Given the description of an element on the screen output the (x, y) to click on. 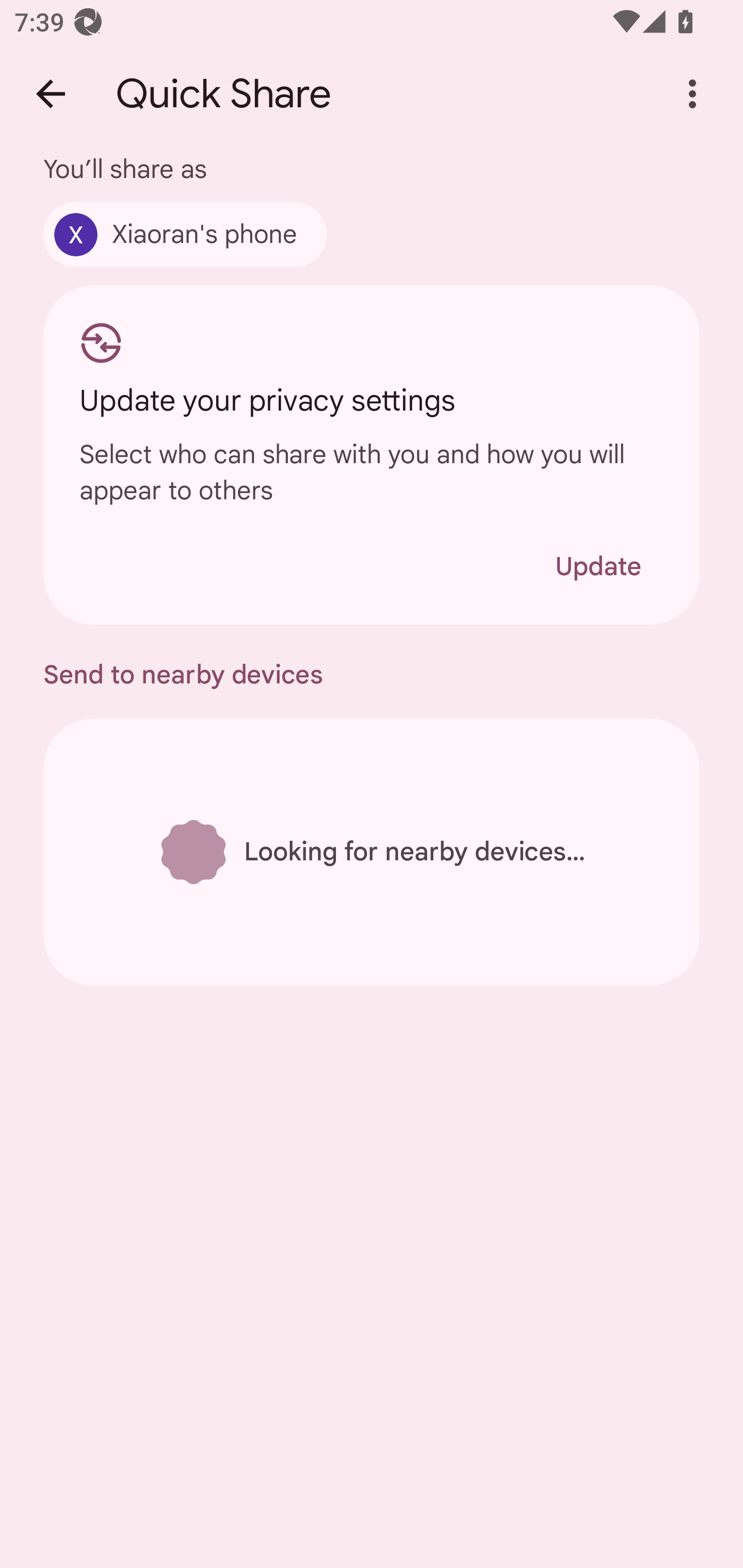
Back (50, 93)
More (692, 93)
Xiaoran's phone (184, 234)
Update (598, 566)
